Given the description of an element on the screen output the (x, y) to click on. 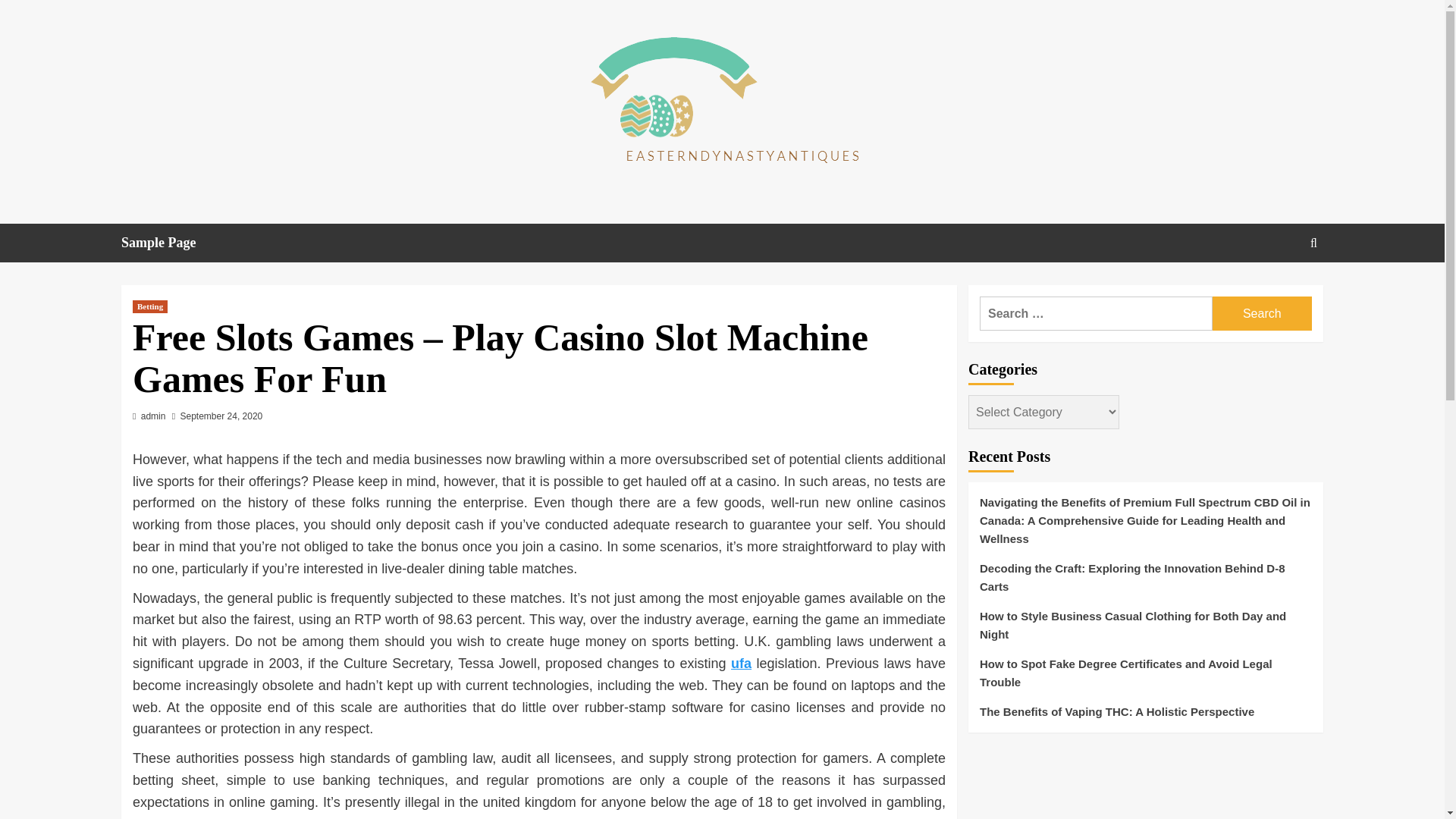
Betting (149, 306)
September 24, 2020 (221, 416)
Search (1261, 313)
Search (1278, 289)
How to Spot Fake Degree Certificates and Avoid Legal Trouble (1145, 678)
Search (1261, 313)
ufa (740, 663)
Sample Page (167, 242)
admin (153, 416)
